Given the description of an element on the screen output the (x, y) to click on. 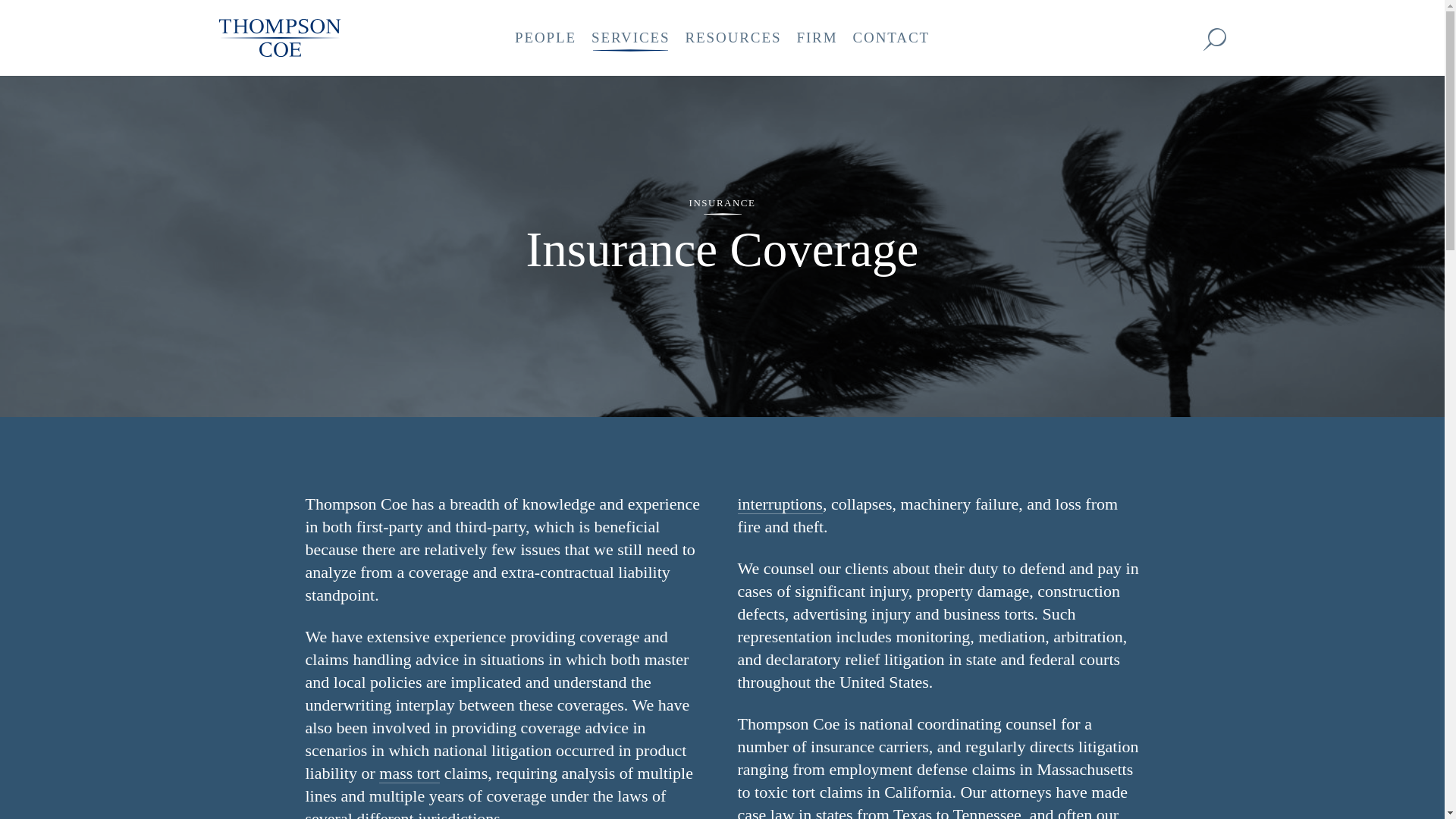
CONTACT (890, 37)
FIRM (816, 37)
mass tort (408, 772)
PEOPLE (544, 37)
Search (1213, 38)
SERVICES (630, 37)
RESOURCES (733, 37)
